Given the description of an element on the screen output the (x, y) to click on. 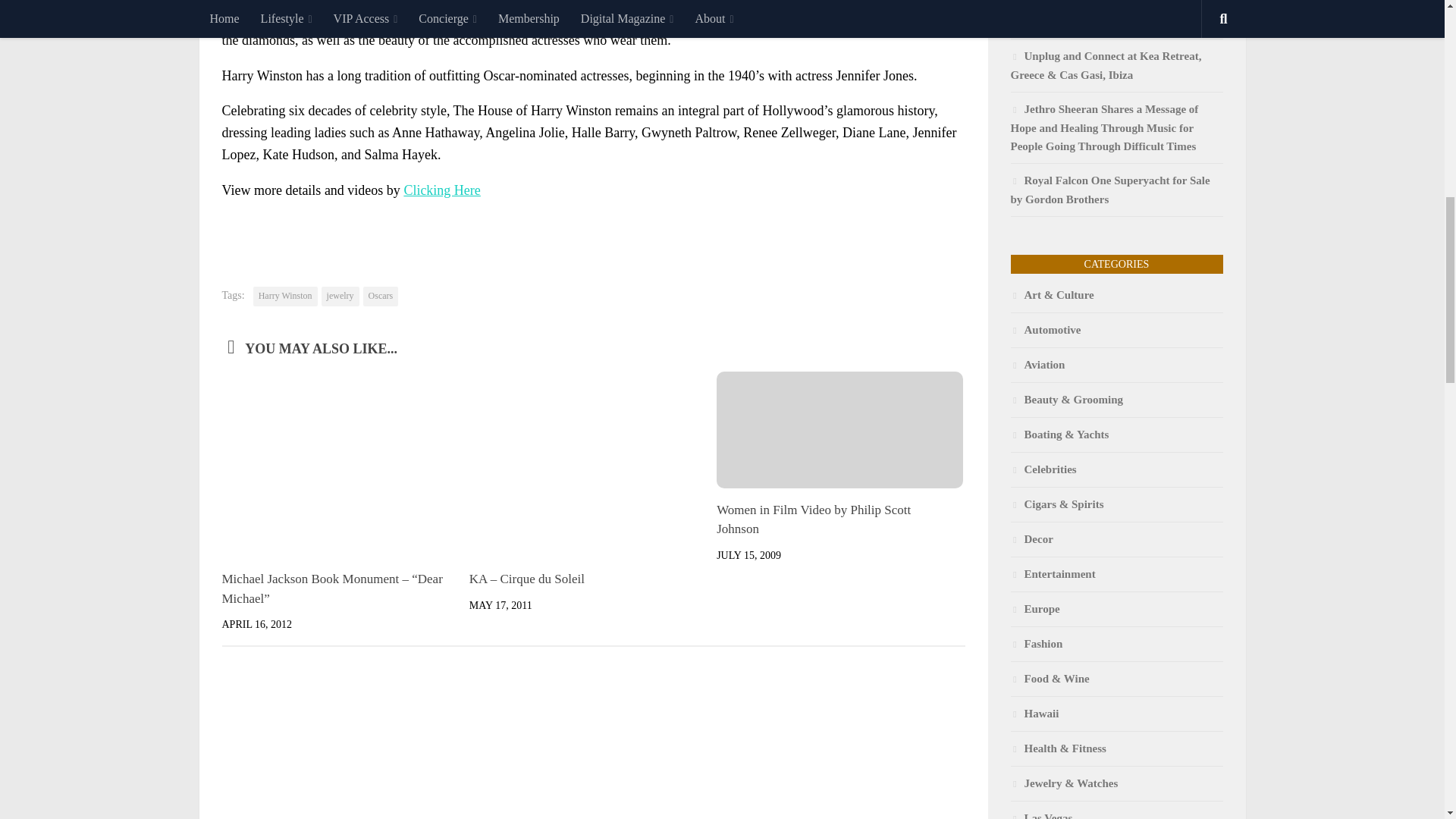
Print Content (953, 230)
Harry Winston's Red Carpet Collection (441, 190)
